Given the description of an element on the screen output the (x, y) to click on. 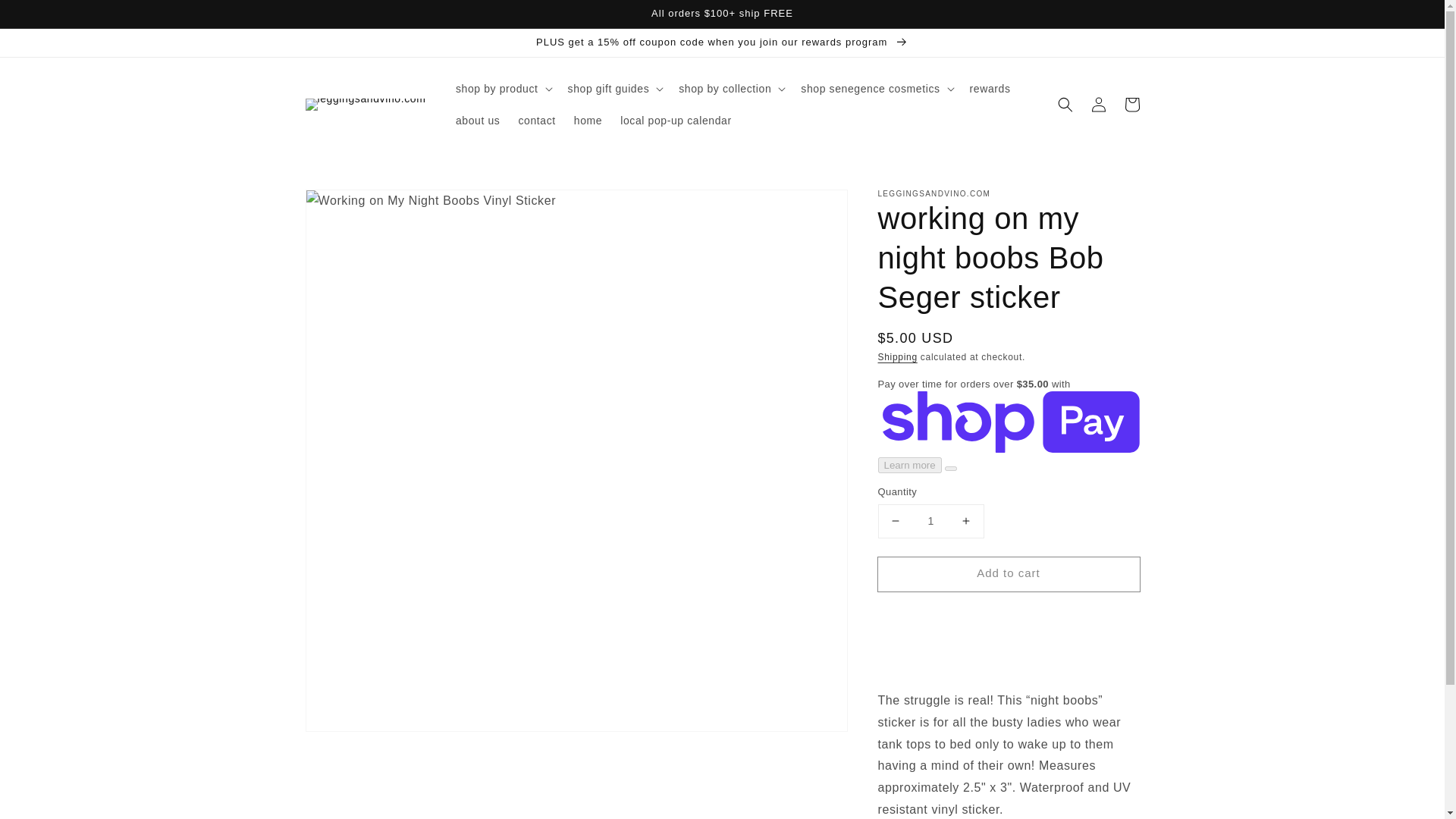
Skip to content (45, 16)
1 (930, 521)
